Given the description of an element on the screen output the (x, y) to click on. 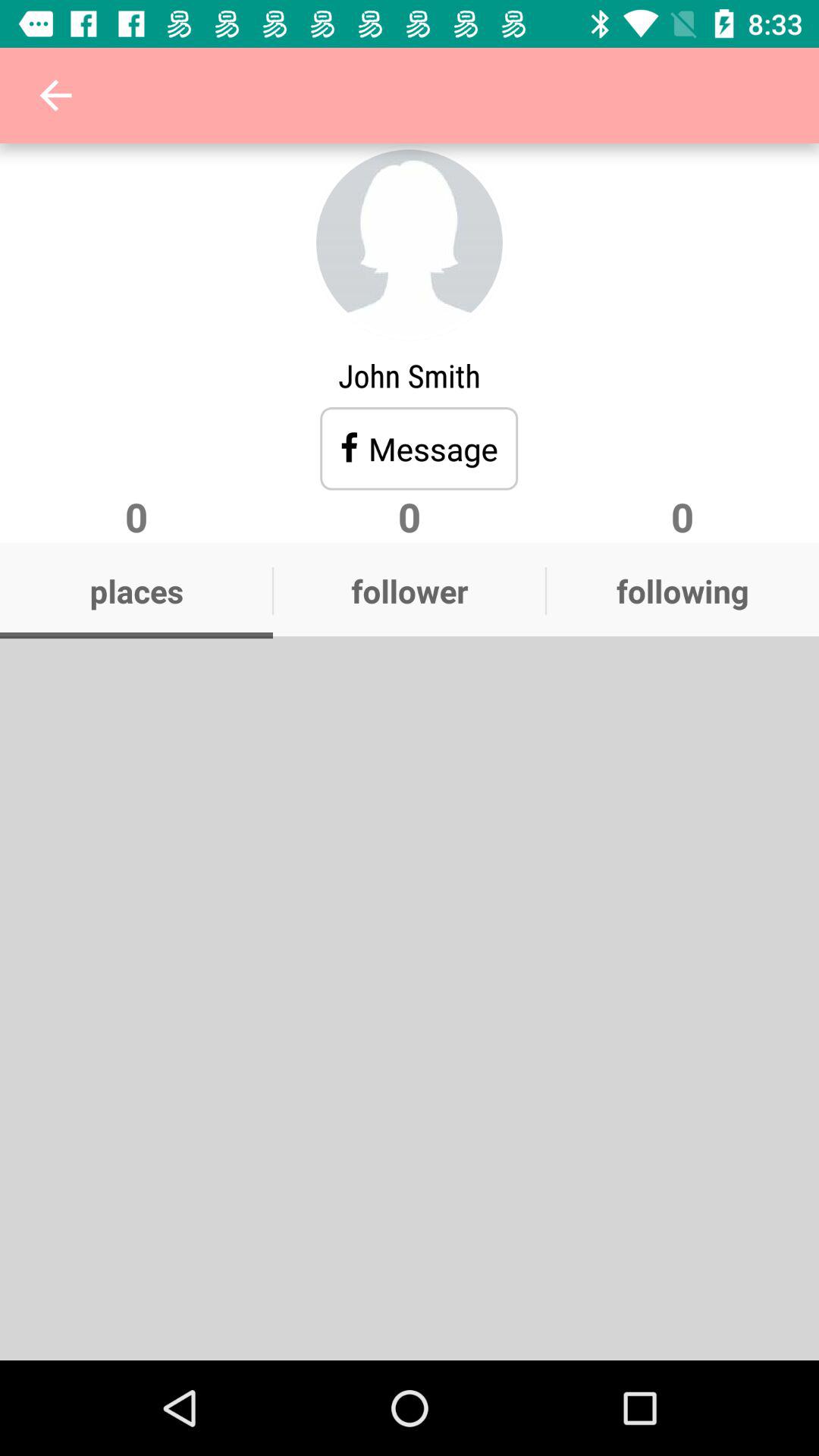
turn off places app (136, 590)
